Given the description of an element on the screen output the (x, y) to click on. 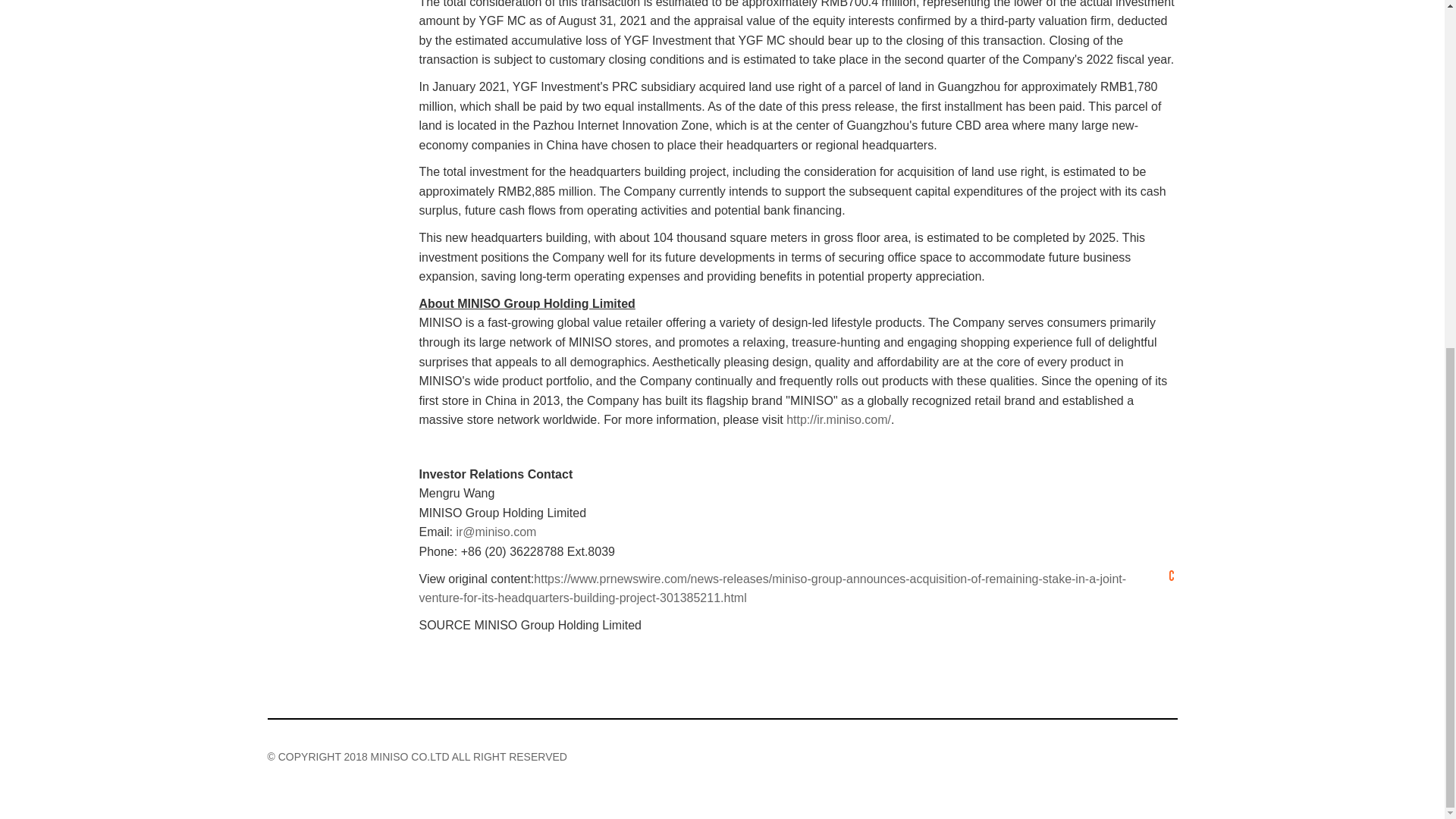
Cision (1170, 575)
